Given the description of an element on the screen output the (x, y) to click on. 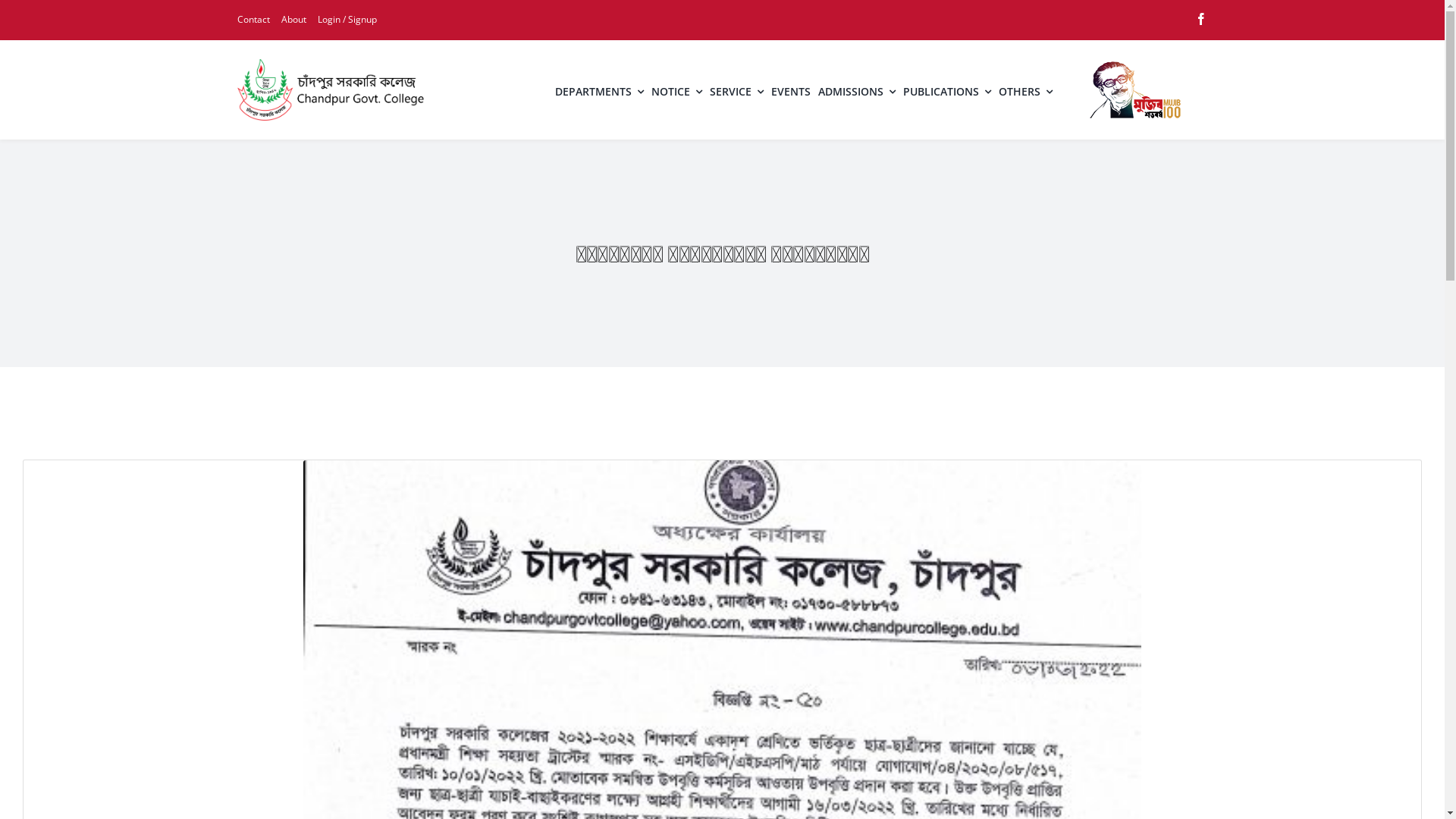
ADMISSIONS Element type: text (856, 90)
PUBLICATIONS Element type: text (947, 90)
EVENTS Element type: text (790, 90)
NOTICE Element type: text (676, 90)
Login / Signup Element type: text (346, 19)
About Element type: text (292, 19)
OTHERS Element type: text (1025, 90)
SERVICE Element type: text (736, 90)
Contact Element type: text (252, 19)
DEPARTMENTS Element type: text (599, 90)
Mujib 100 Logo 120x75px Element type: hover (1134, 89)
